Given the description of an element on the screen output the (x, y) to click on. 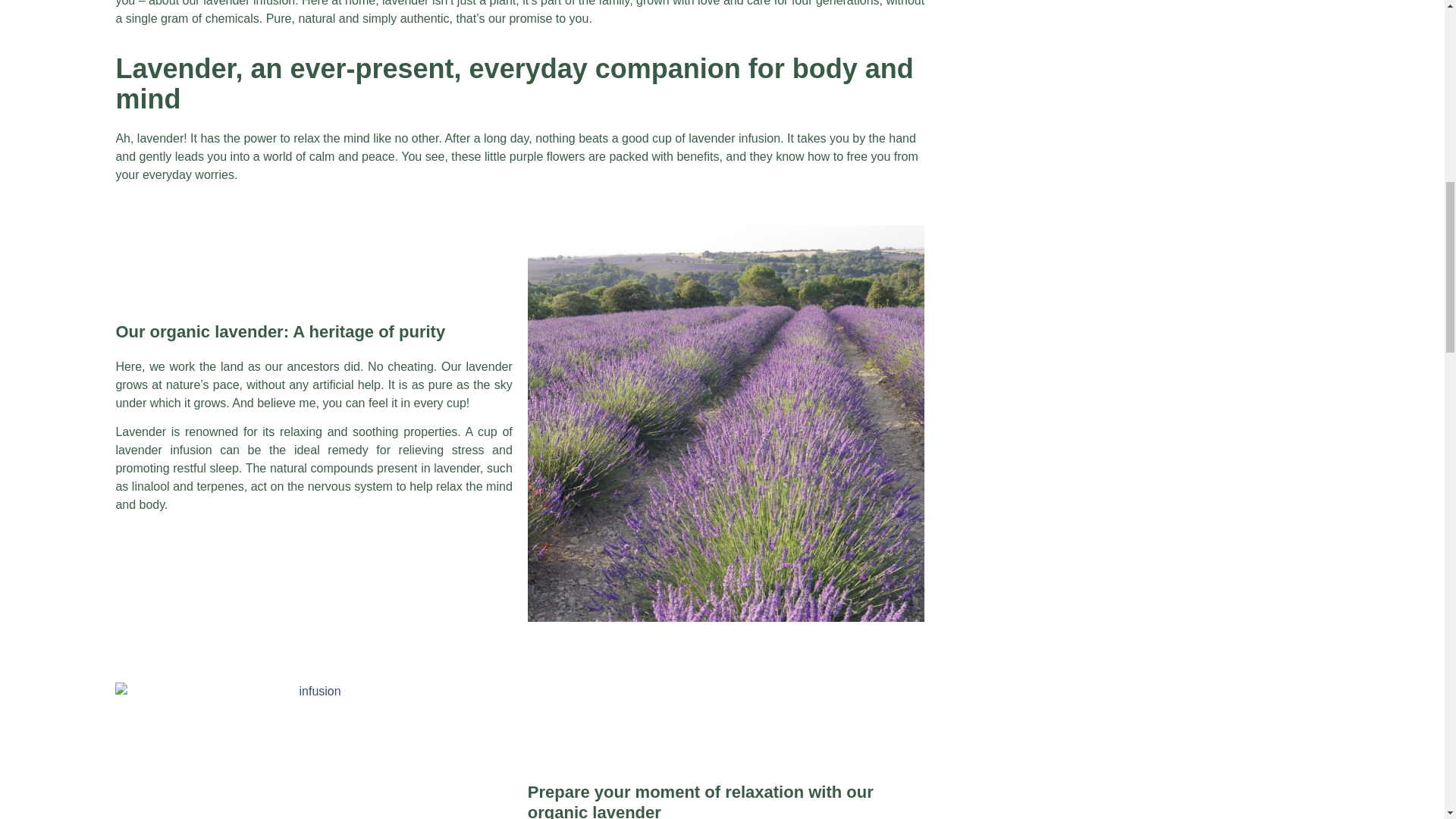
Lavender infusion: the secret of a peaceful night's sleep 2 (313, 750)
